Given the description of an element on the screen output the (x, y) to click on. 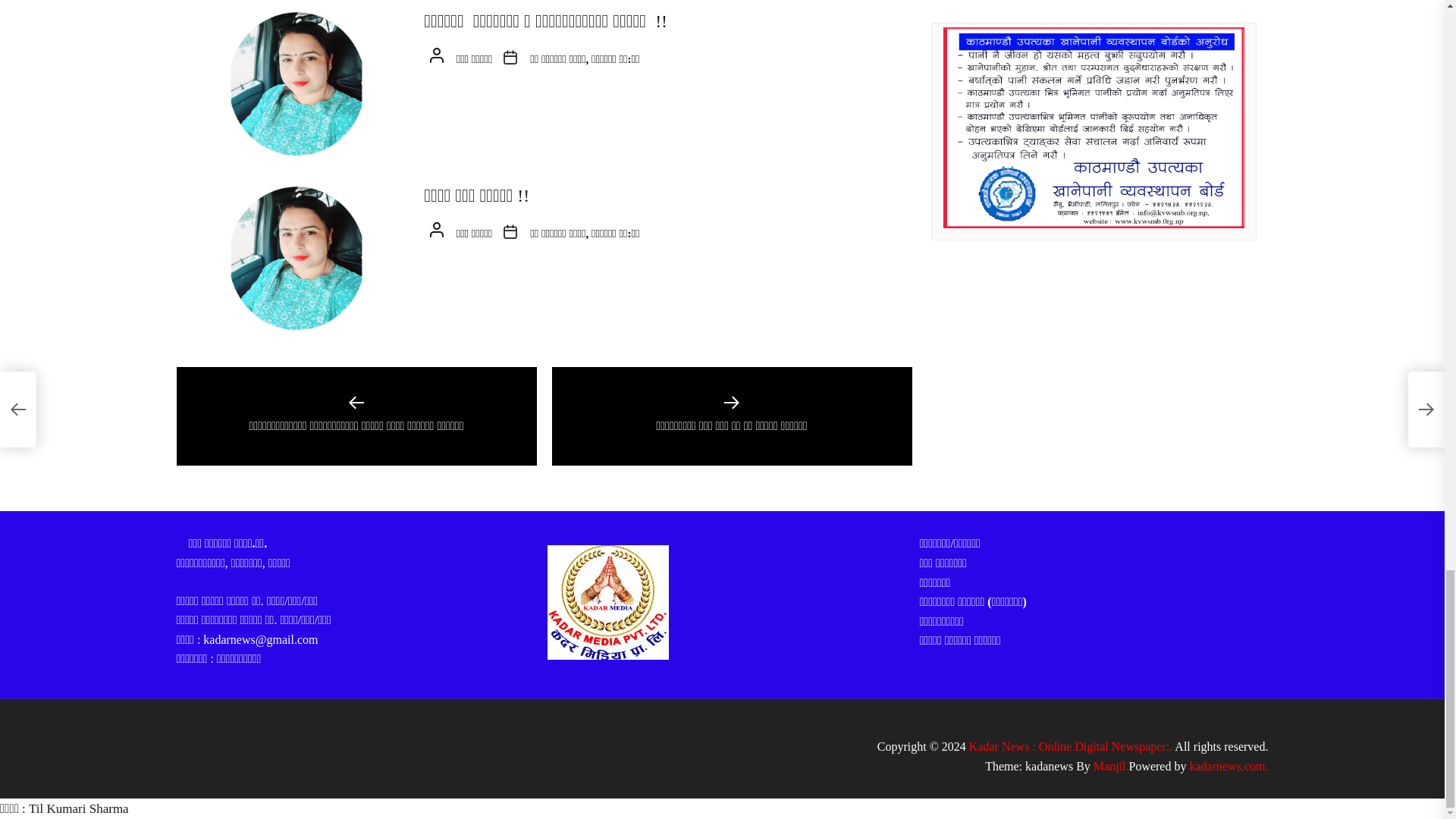
kadarnews.com (1228, 766)
Manjil (1111, 766)
Kadar News : Online Digital Newspaper: (1070, 746)
